Given the description of an element on the screen output the (x, y) to click on. 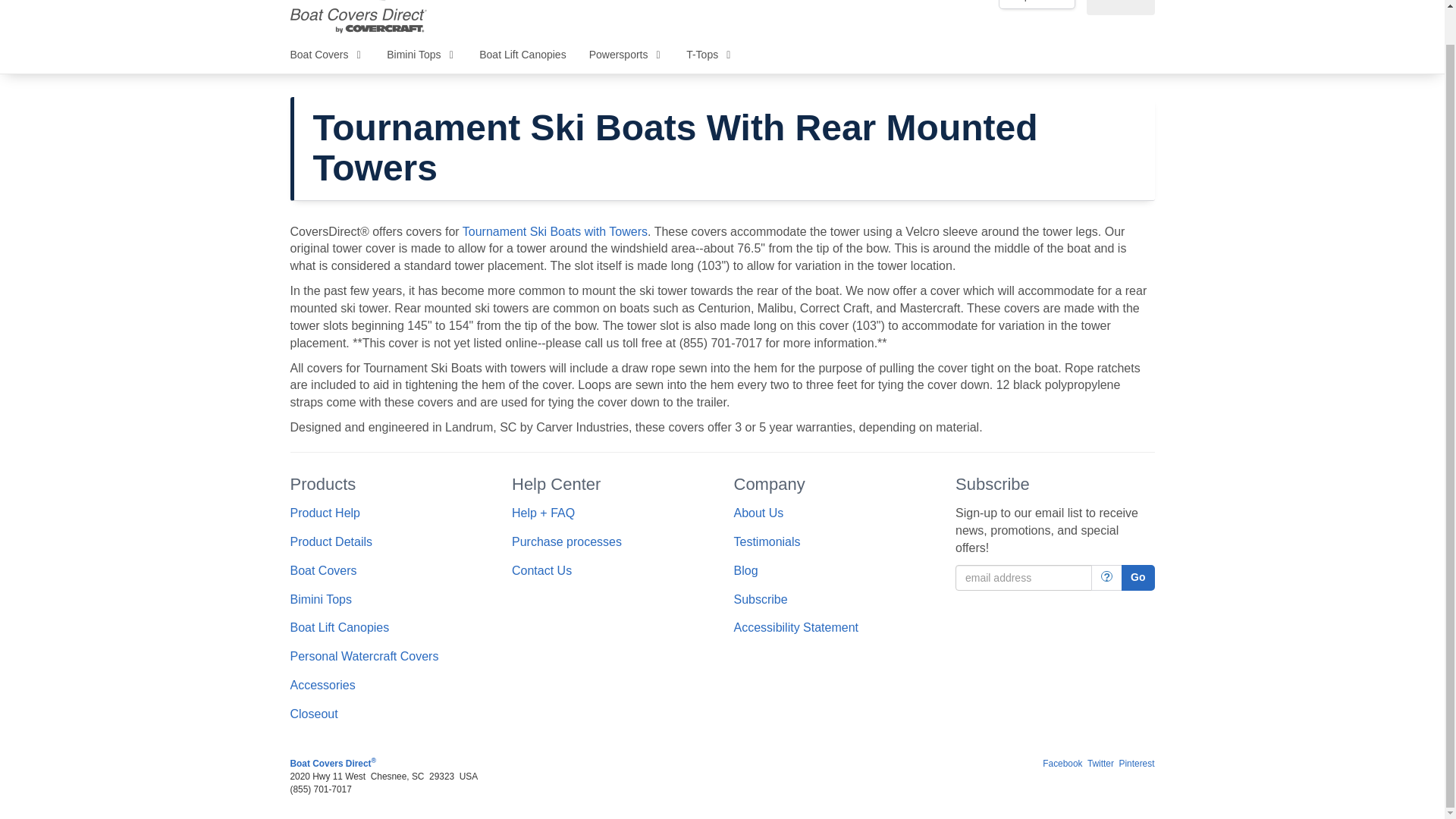
Powersports (626, 54)
More Info (1106, 577)
Bimini Tops (421, 54)
Boat Lift Canopies (521, 54)
Boat Covers (327, 54)
Jet Ski Covers (363, 656)
A fabric roof for your boat lift. (338, 626)
View Cart (1120, 7)
